Given the description of an element on the screen output the (x, y) to click on. 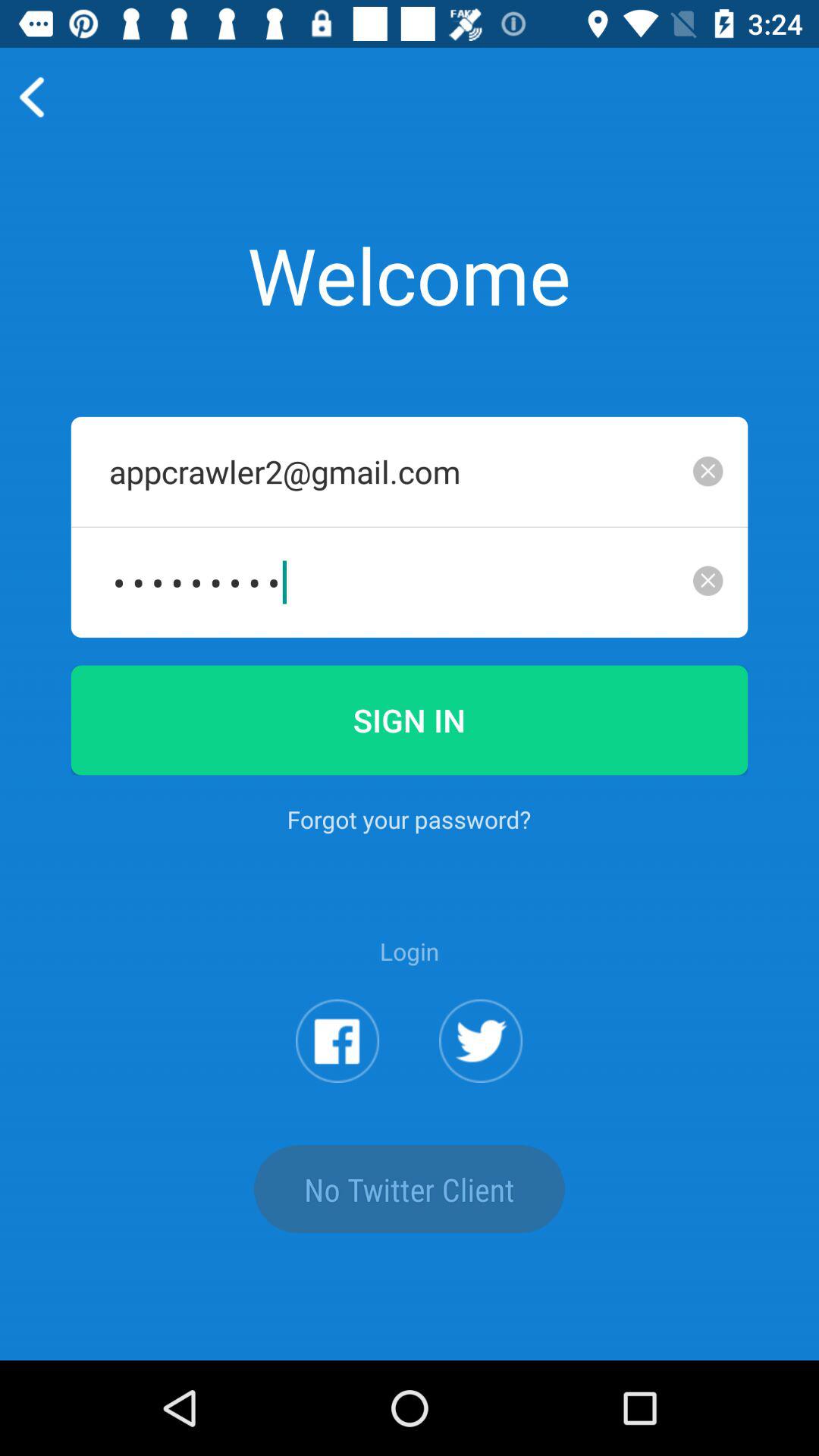
clear form (708, 471)
